Given the description of an element on the screen output the (x, y) to click on. 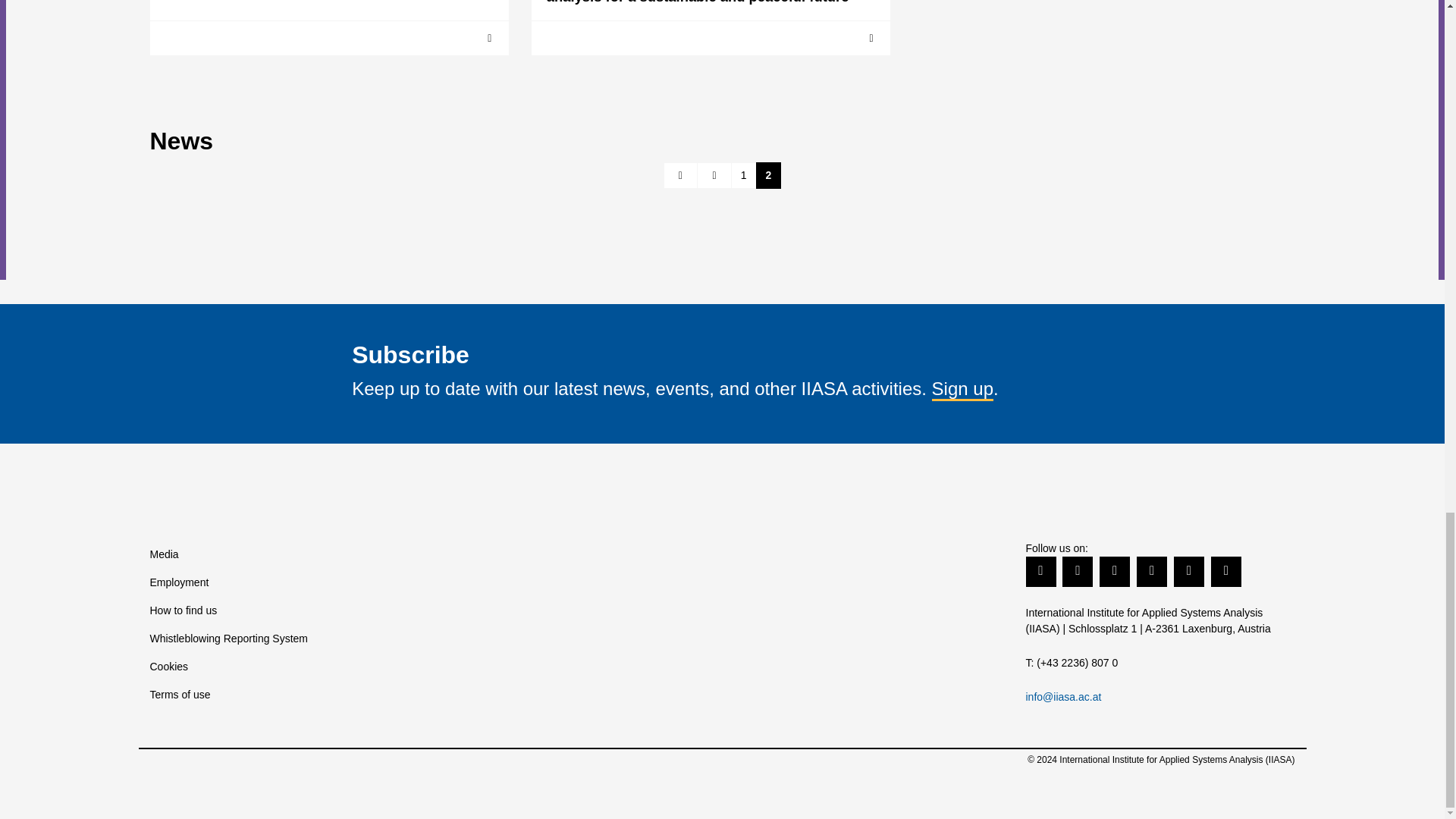
Twitter (1040, 570)
Edit cookies preferences (284, 666)
LinkedIn (1114, 570)
Go to first page (680, 175)
Facebook (1077, 570)
Go to previous page (714, 175)
YouTube (1152, 570)
Flickr (1188, 570)
Instagram (1226, 570)
